Given the description of an element on the screen output the (x, y) to click on. 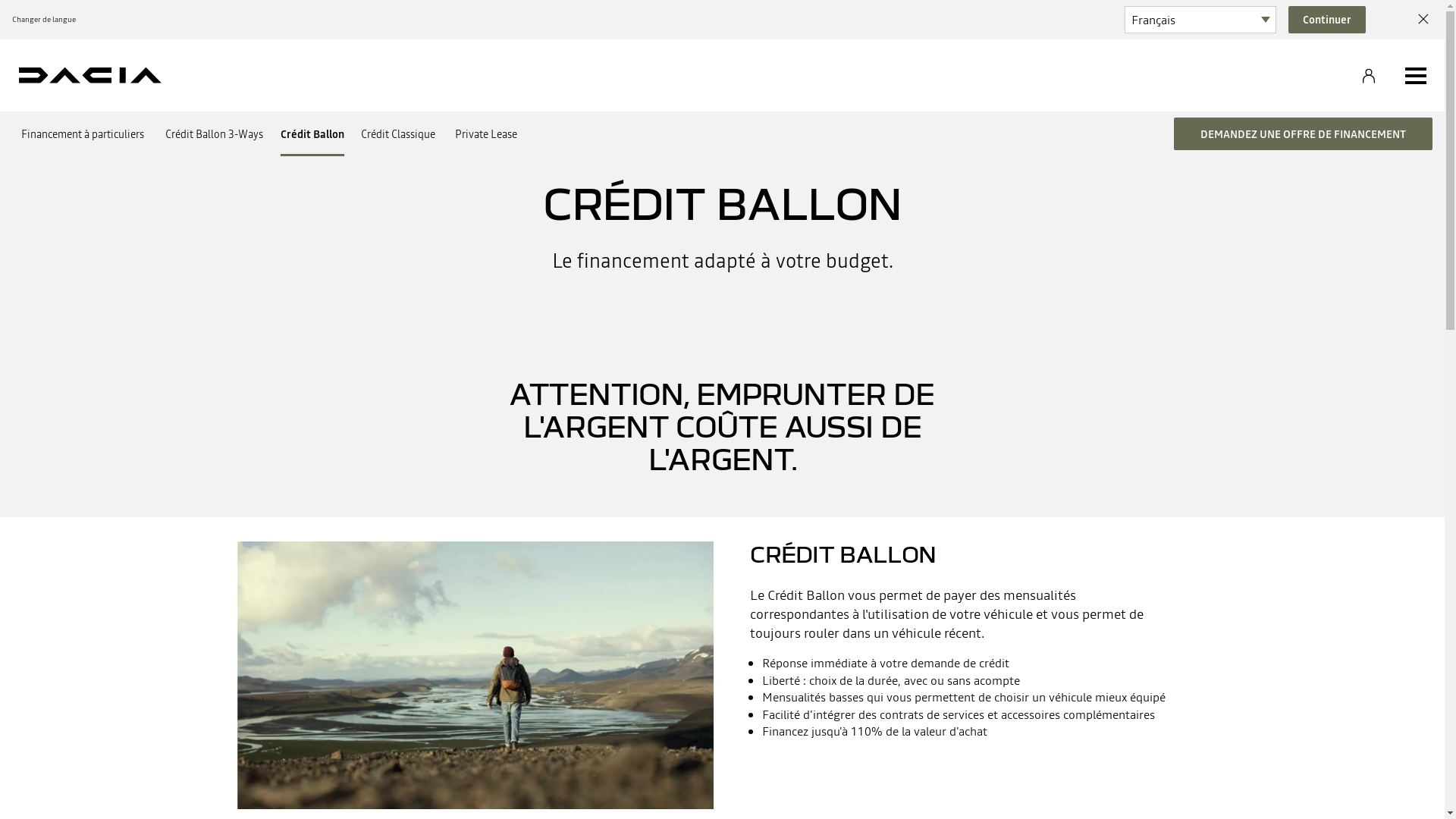
Private Lease Element type: text (485, 133)
DEMANDEZ UNE OFFRE DE FINANCEMENT Element type: text (1302, 133)
Continuer Element type: text (1326, 19)
